Given the description of an element on the screen output the (x, y) to click on. 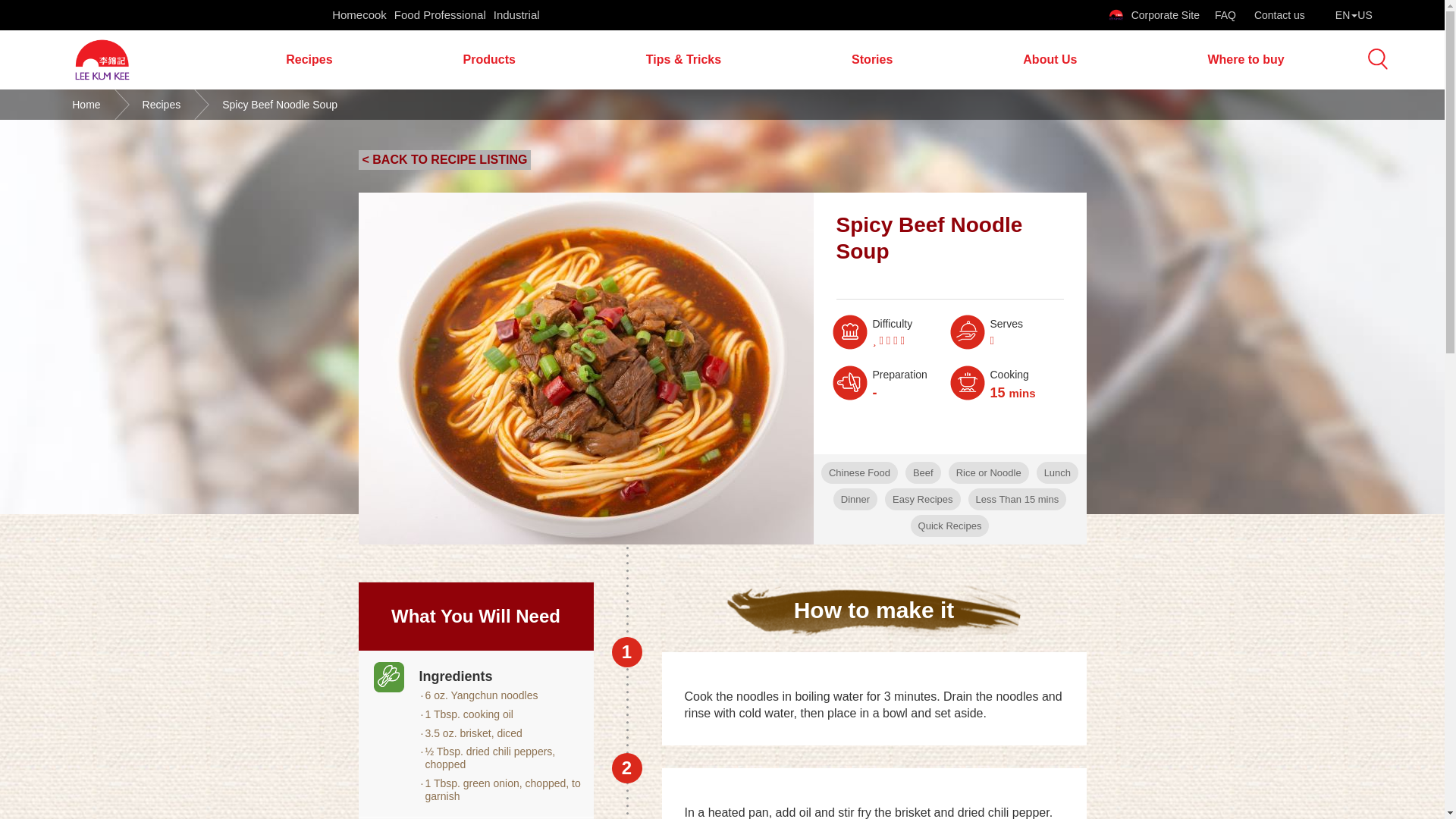
Food Professional (440, 14)
Recipes (309, 59)
Products (488, 59)
Stories (872, 59)
Where to buy (1245, 59)
About Us (1049, 59)
FAQ (1226, 14)
ENUS (1354, 14)
Recipes (309, 59)
Industrial (516, 14)
Corporate Site (1153, 14)
Homecook (359, 14)
Food Professional (440, 14)
Corporate Site (1153, 14)
EN (1354, 14)
